Given the description of an element on the screen output the (x, y) to click on. 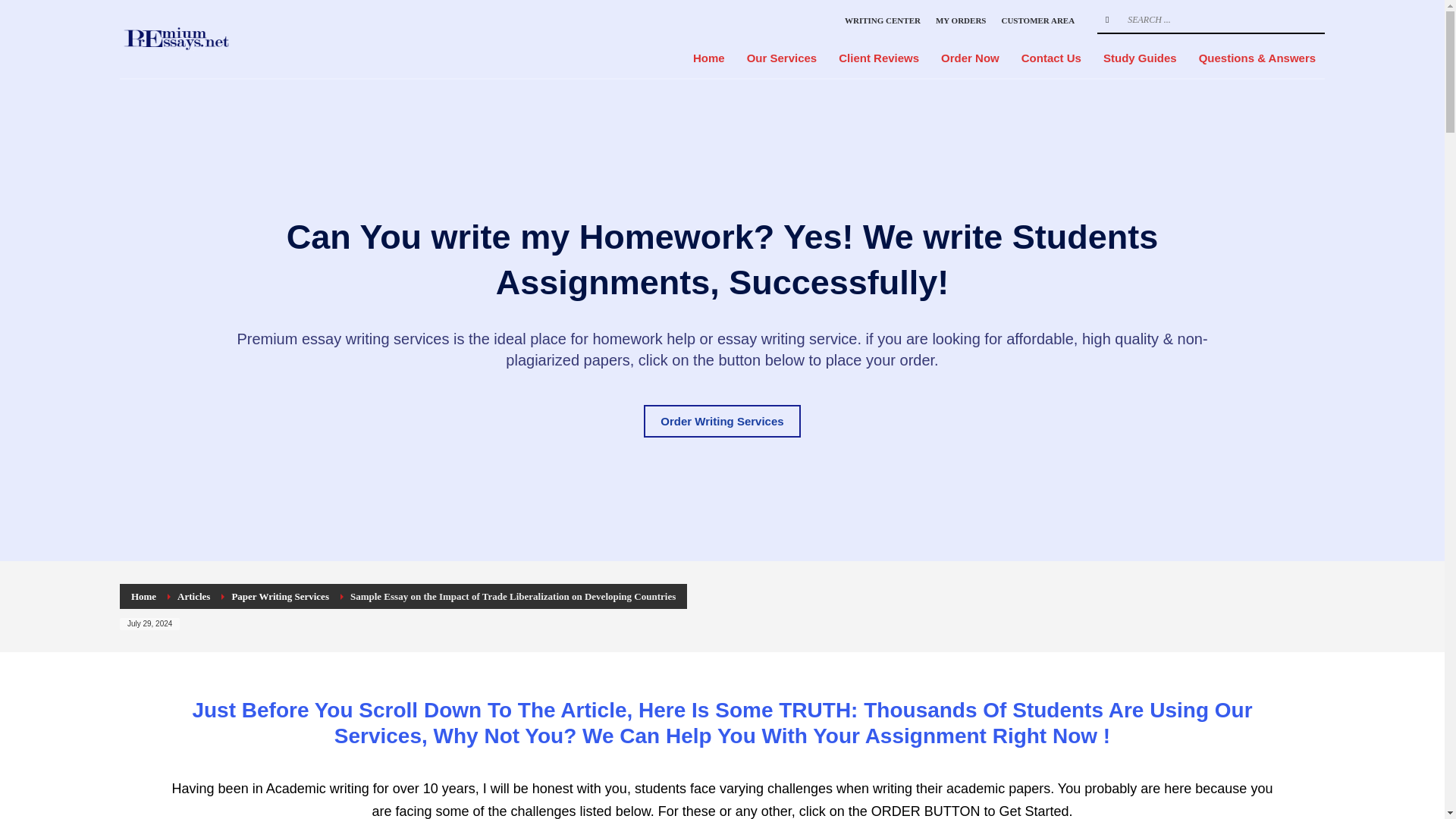
WRITING CENTER (882, 20)
Paper Writing Services (280, 595)
Order Writing Services (721, 420)
Client Reviews (878, 57)
Our Services (782, 57)
Home (143, 595)
CUSTOMER AREA (1037, 20)
go (1107, 19)
Study Guides (1140, 57)
Order Now (970, 57)
Homework Help (213, 38)
Articles (193, 595)
Contact Us (1050, 57)
MY ORDERS (961, 20)
Click me (721, 420)
